Given the description of an element on the screen output the (x, y) to click on. 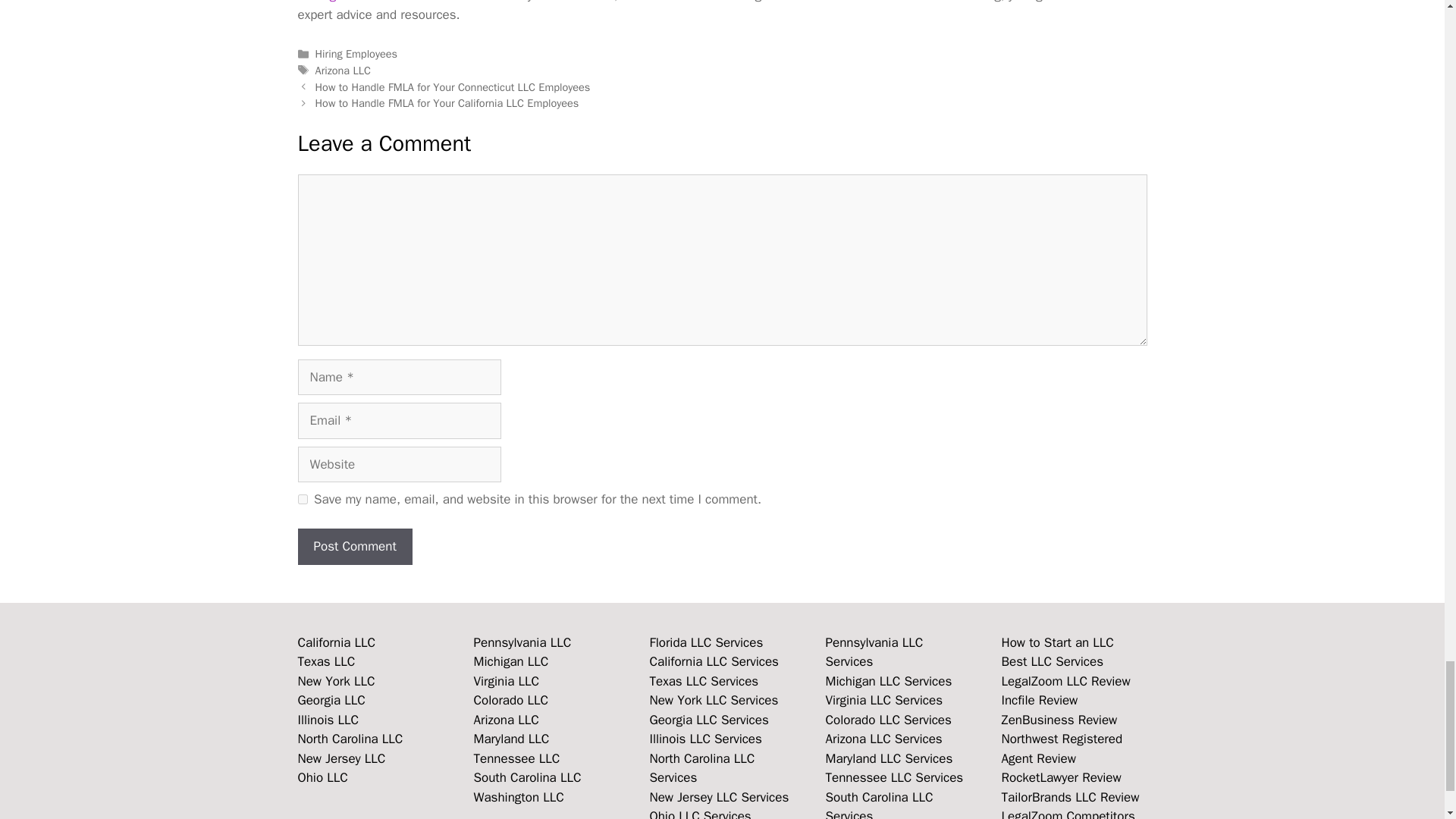
How to Start an LLC in California (336, 642)
How to Start an LLC in New York (335, 681)
Post Comment (354, 546)
LLCBig (316, 1)
How to Start an LLC in Texas (326, 661)
yes (302, 499)
